Given the description of an element on the screen output the (x, y) to click on. 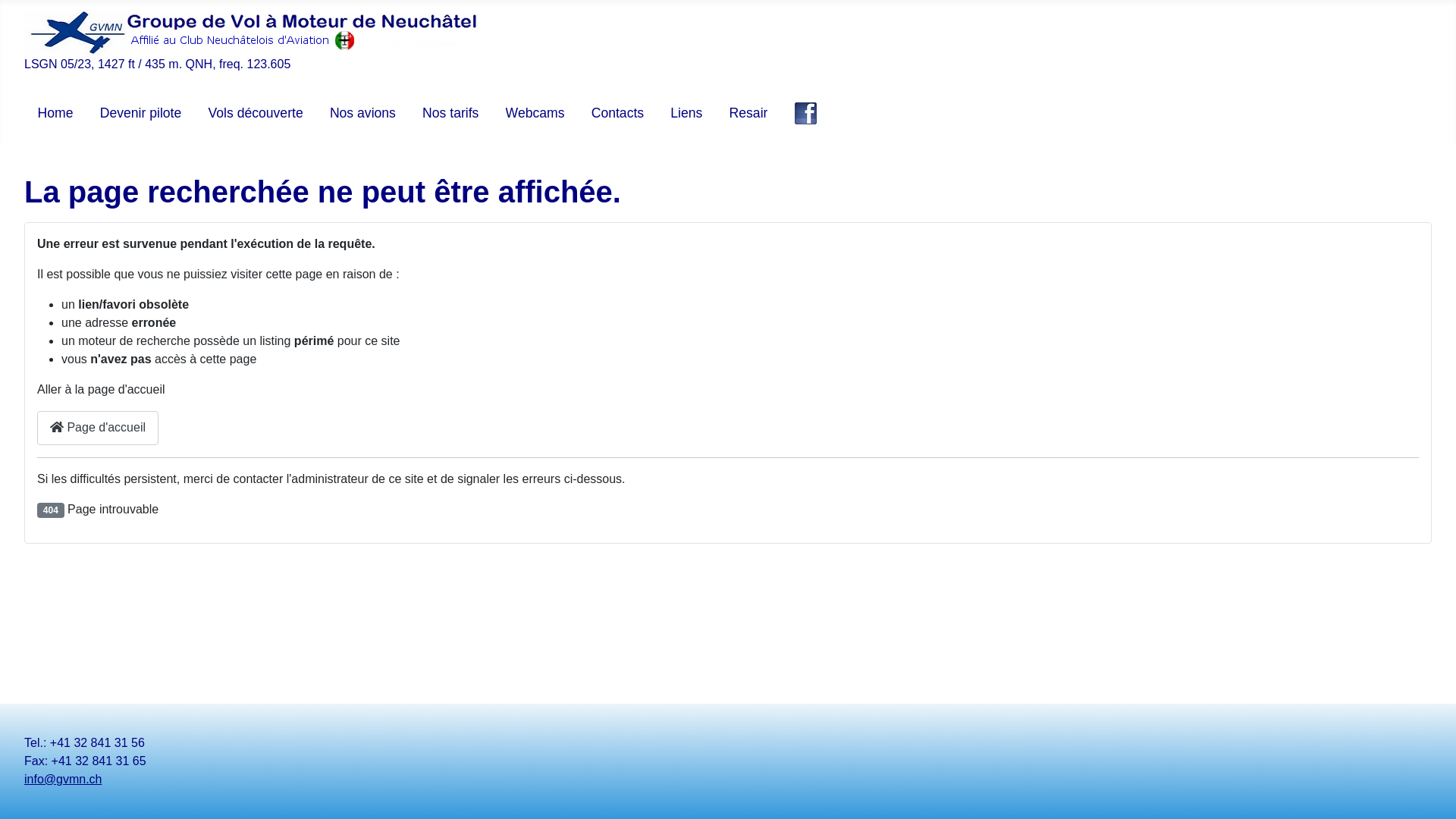
Liens Element type: text (686, 112)
Devenir pilote Element type: text (141, 112)
Nos avions Element type: text (362, 112)
Nos tarifs Element type: text (450, 112)
Page d'accueil Element type: text (97, 428)
Contacts Element type: text (617, 112)
Home Element type: text (55, 112)
info@gvmn.ch Element type: text (63, 778)
Resair Element type: text (748, 112)
Webcams Element type: text (534, 112)
